Given the description of an element on the screen output the (x, y) to click on. 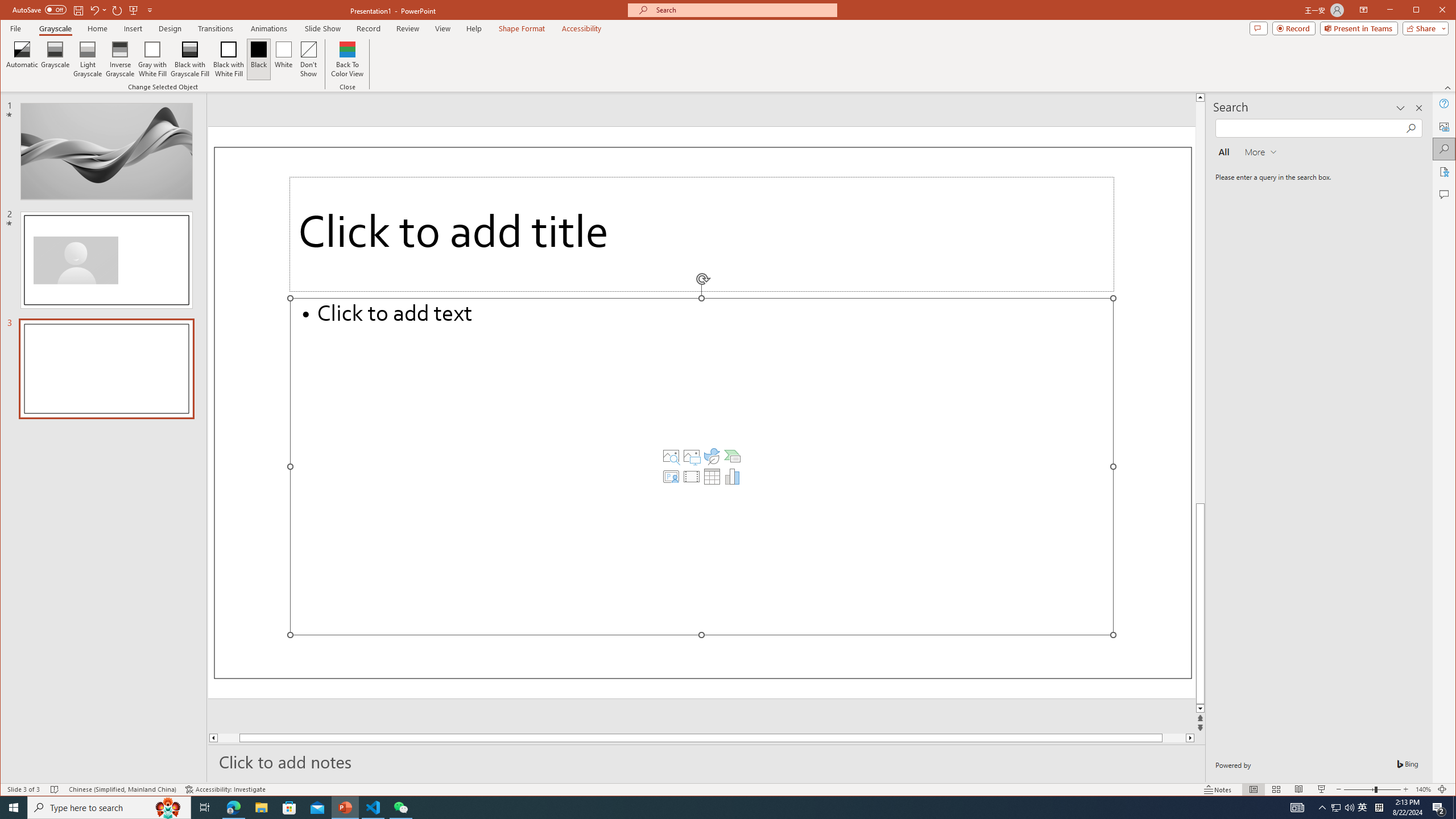
Slide (106, 368)
Insert Cameo (670, 476)
Spell Check No Errors (55, 789)
Running applications (707, 807)
Notes  (1217, 789)
Page up (1200, 302)
Undo (1335, 807)
Record (98, 9)
Slide Show (1294, 28)
Class: MsoCommandBar (322, 28)
Line down (728, 789)
Insert Chart (1200, 709)
Light Grayscale (732, 476)
